Given the description of an element on the screen output the (x, y) to click on. 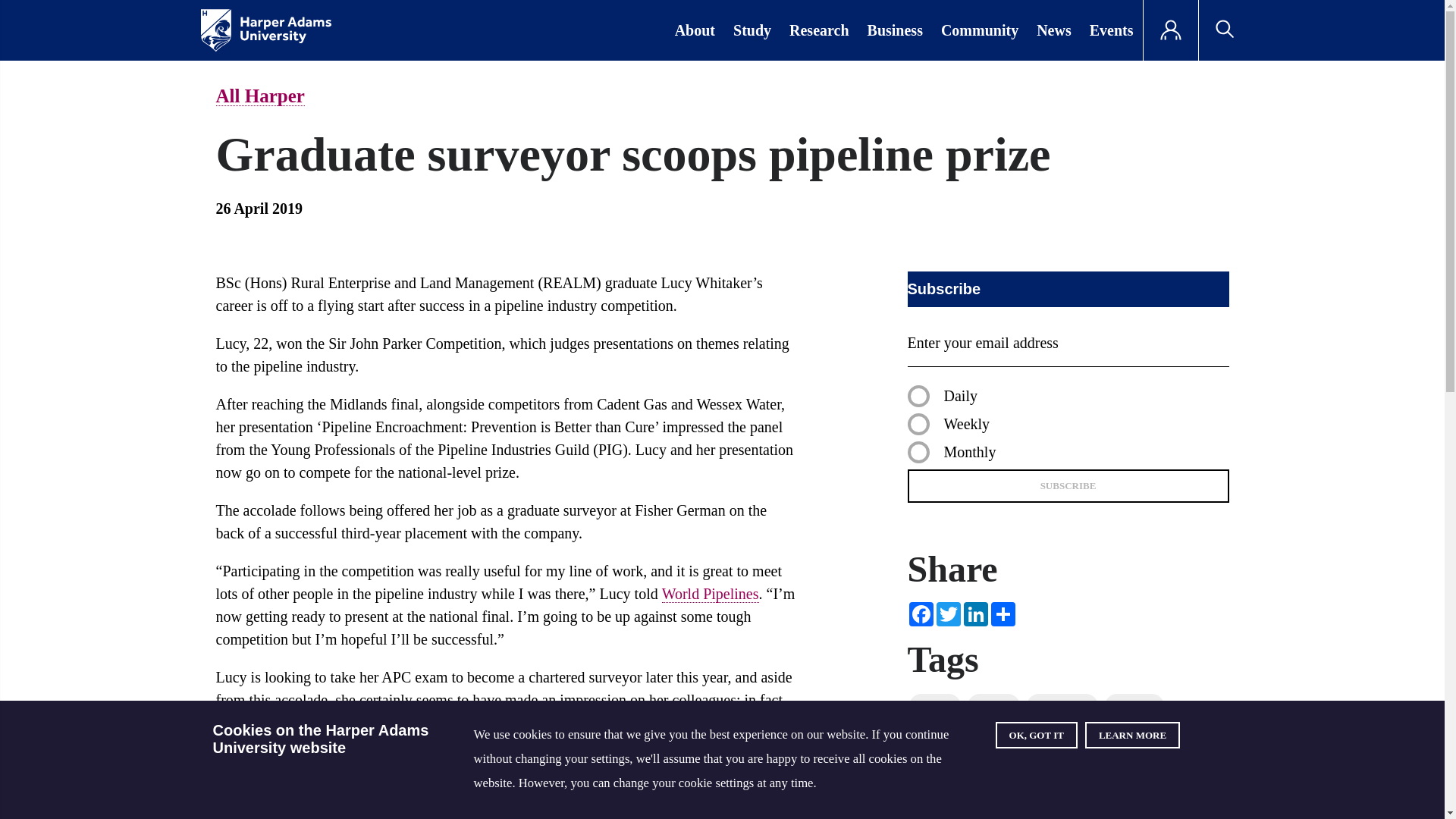
Events (1111, 30)
Subscribe (1067, 485)
Study (751, 30)
Research (819, 30)
Business (895, 30)
Community (979, 30)
About (694, 30)
